Given the description of an element on the screen output the (x, y) to click on. 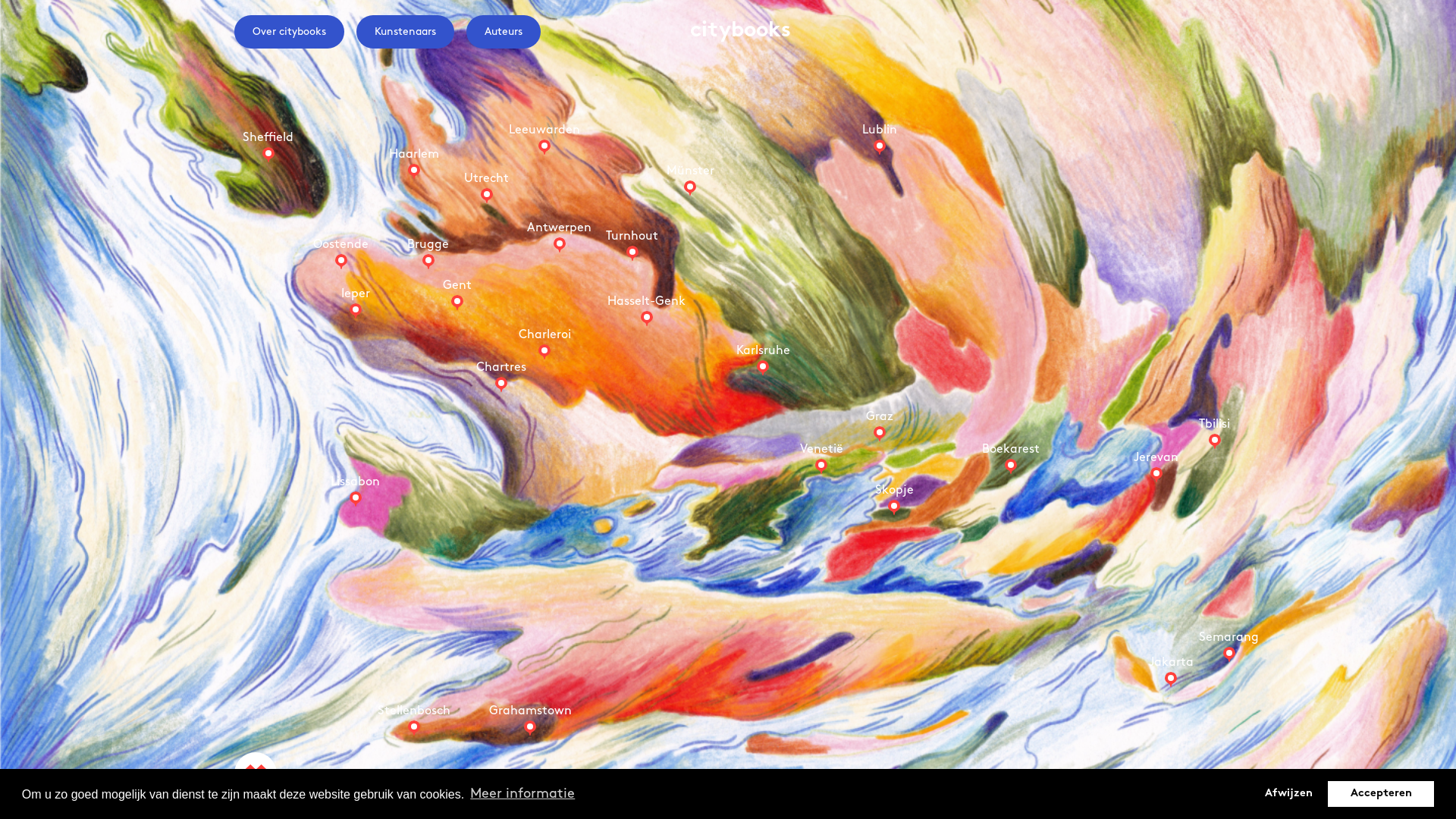
Stellenbosch Element type: text (413, 727)
Boekarest Element type: text (1010, 465)
Chartres Element type: text (501, 384)
Brugge Element type: text (428, 261)
Semarang Element type: text (1229, 654)
Grahamstown Element type: text (530, 727)
Auteurs Element type: text (503, 31)
Karlsruhe Element type: text (762, 367)
Accepteren Element type: text (1380, 793)
Kunstenaars Element type: text (405, 31)
Haarlem Element type: text (413, 170)
Jakarta Element type: text (1170, 679)
Oostende Element type: text (341, 261)
Meer informatie Element type: text (522, 794)
Leeuwarden Element type: text (544, 146)
Hasselt-Genk Element type: text (646, 318)
Graz Element type: text (879, 433)
Afwijzen Element type: text (1288, 793)
Jerevan Element type: text (1156, 474)
Turnhout Element type: text (632, 252)
Over citybooks Element type: text (289, 31)
Lublin Element type: text (879, 146)
Sheffield Element type: text (268, 154)
Skopje Element type: text (894, 506)
Gent Element type: text (457, 302)
Charleroi Element type: text (544, 351)
Tbilisi Element type: text (1214, 440)
Utrecht Element type: text (486, 195)
Lissabon Element type: text (355, 498)
Ieper Element type: text (355, 310)
Antwerpen Element type: text (559, 244)
